Given the description of an element on the screen output the (x, y) to click on. 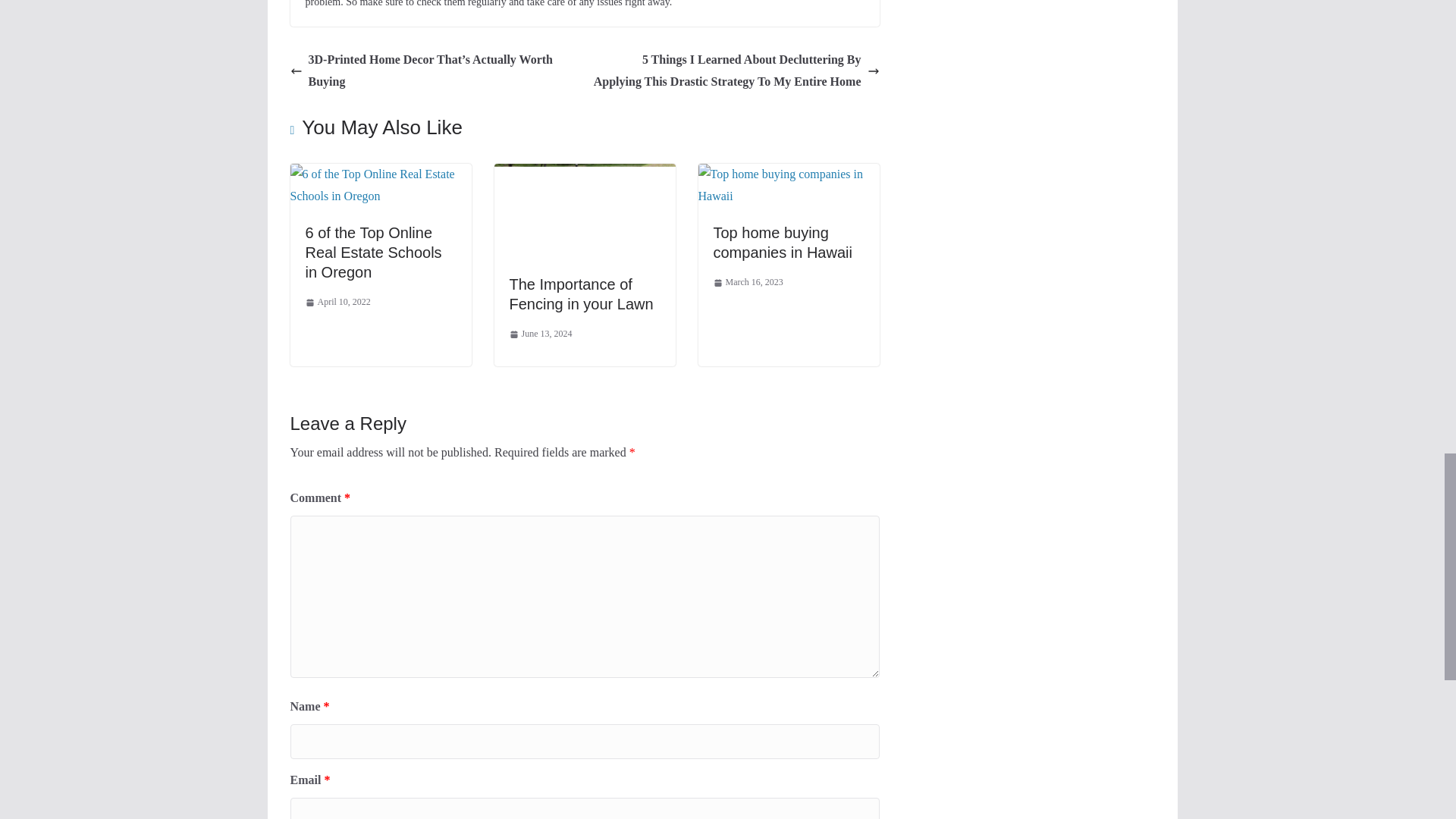
Top home buying companies in Hawaii (782, 242)
2:20 pm (336, 302)
6 of the Top Online Real Estate Schools in Oregon (372, 252)
The Importance of Fencing in your Lawn (585, 173)
The Importance of Fencing in your Lawn (581, 294)
6 of the Top Online Real Estate Schools in Oregon (379, 173)
March 16, 2023 (748, 282)
The Importance of Fencing in your Lawn (581, 294)
June 13, 2024 (540, 334)
April 10, 2022 (336, 302)
6 of the Top Online Real Estate Schools in Oregon (372, 252)
10:40 am (540, 334)
